Given the description of an element on the screen output the (x, y) to click on. 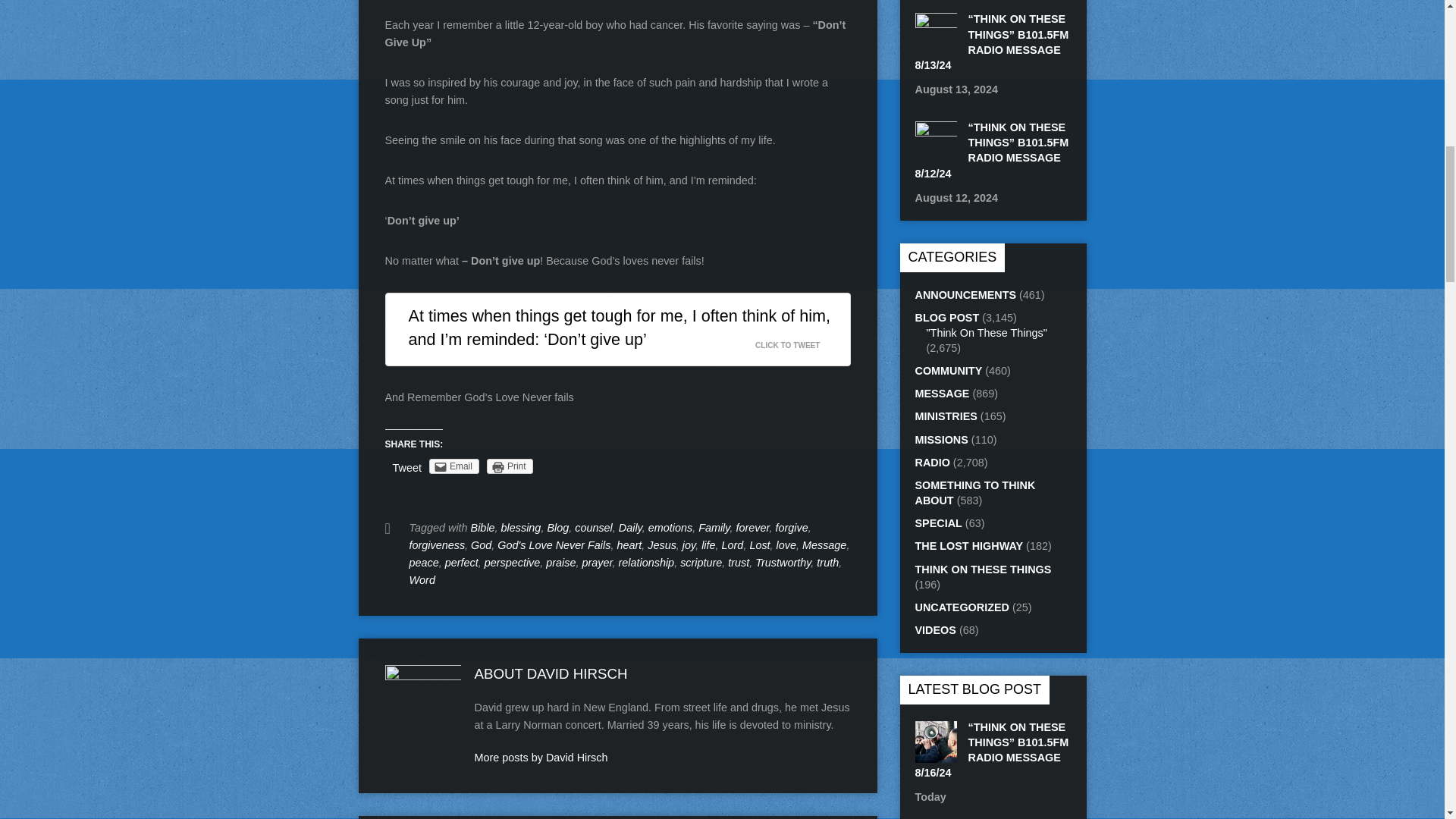
Click to email this to a friend (454, 466)
Print (509, 466)
CLICK TO TWEET (796, 340)
Tweet (407, 467)
Click to print (509, 466)
Email (454, 466)
